Given the description of an element on the screen output the (x, y) to click on. 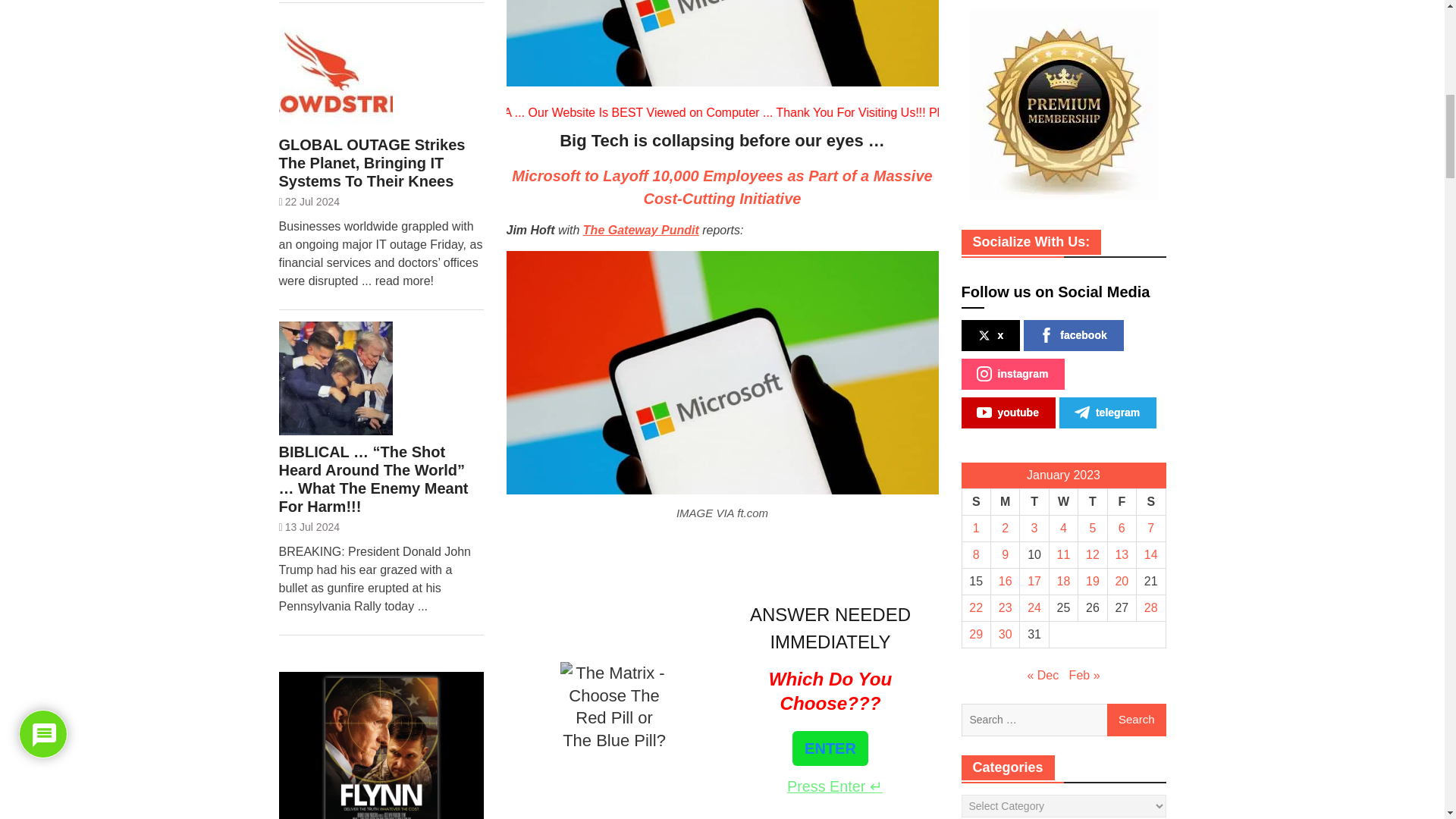
Search (1136, 720)
Search (1136, 720)
